Given the description of an element on the screen output the (x, y) to click on. 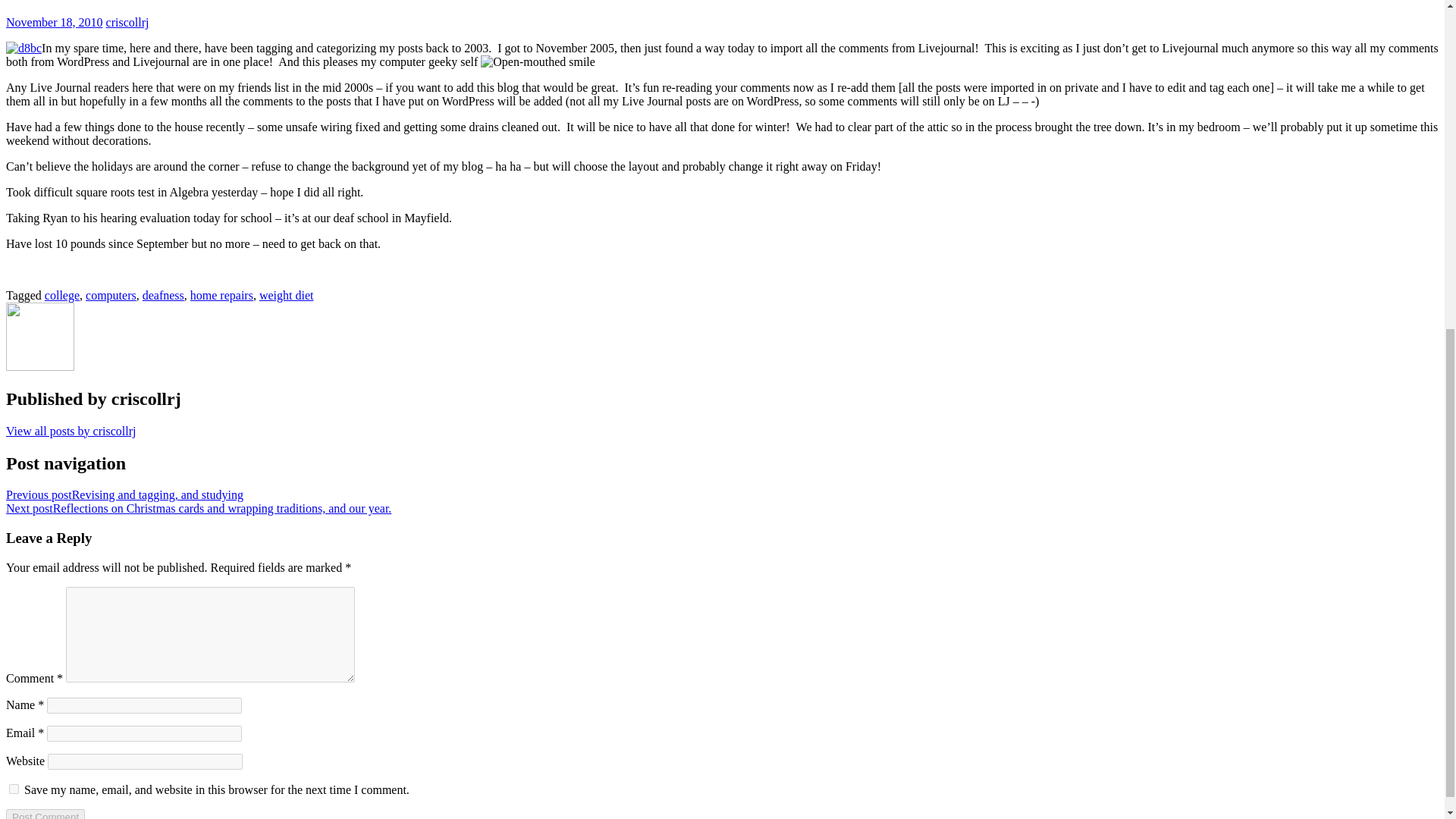
November 18, 2010 (54, 21)
d8bc (23, 47)
home repairs (221, 295)
Previous postRevising and tagging, and studying (124, 494)
deafness (163, 295)
yes (13, 788)
criscollrj (127, 21)
View all posts by criscollrj (70, 431)
college (62, 295)
computers (110, 295)
weight diet (286, 295)
